Given the description of an element on the screen output the (x, y) to click on. 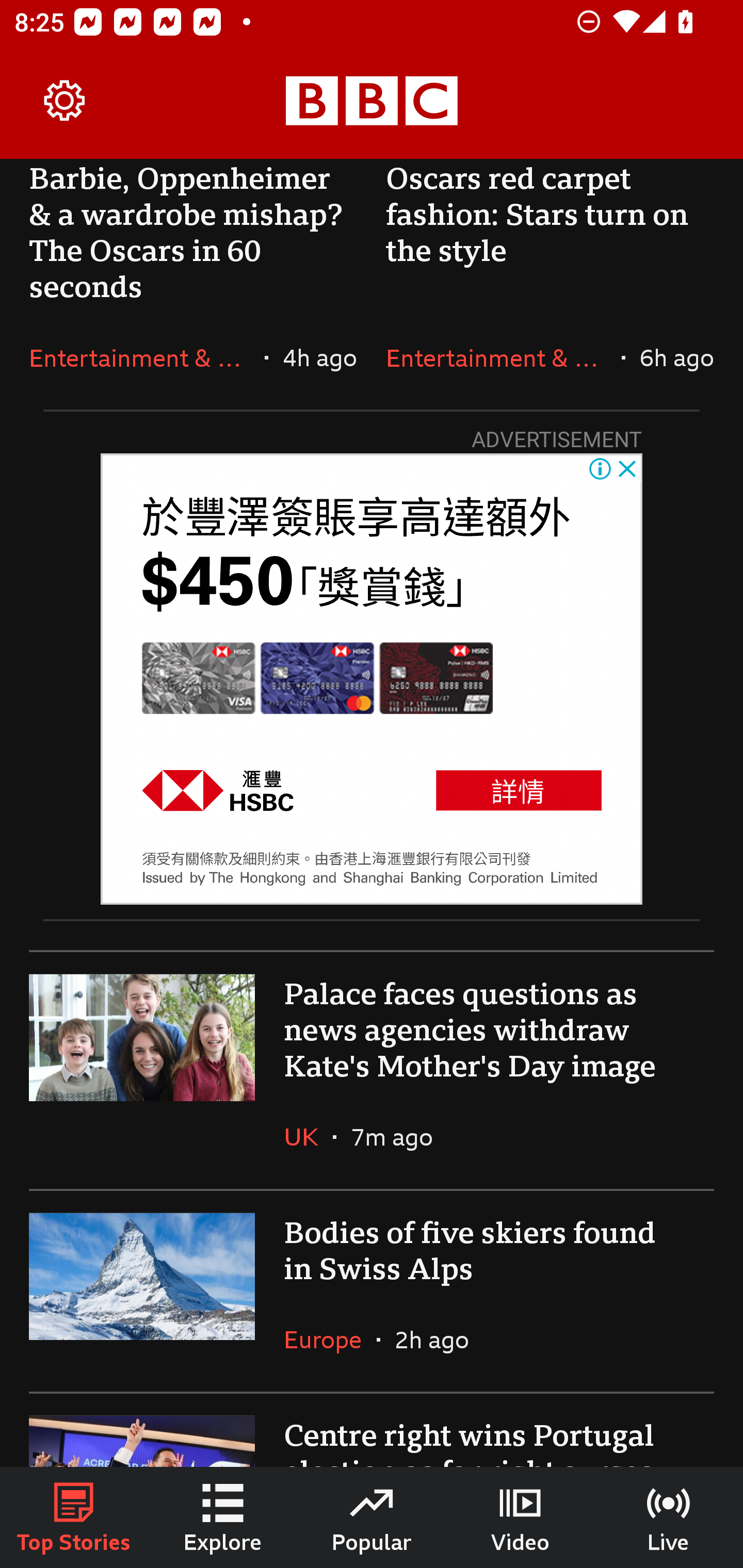
Settings (64, 100)
300x250 (371, 678)
UK In the section UK (307, 1136)
Europe In the section Europe (329, 1339)
Explore (222, 1517)
Popular (371, 1517)
Video (519, 1517)
Live (668, 1517)
